Given the description of an element on the screen output the (x, y) to click on. 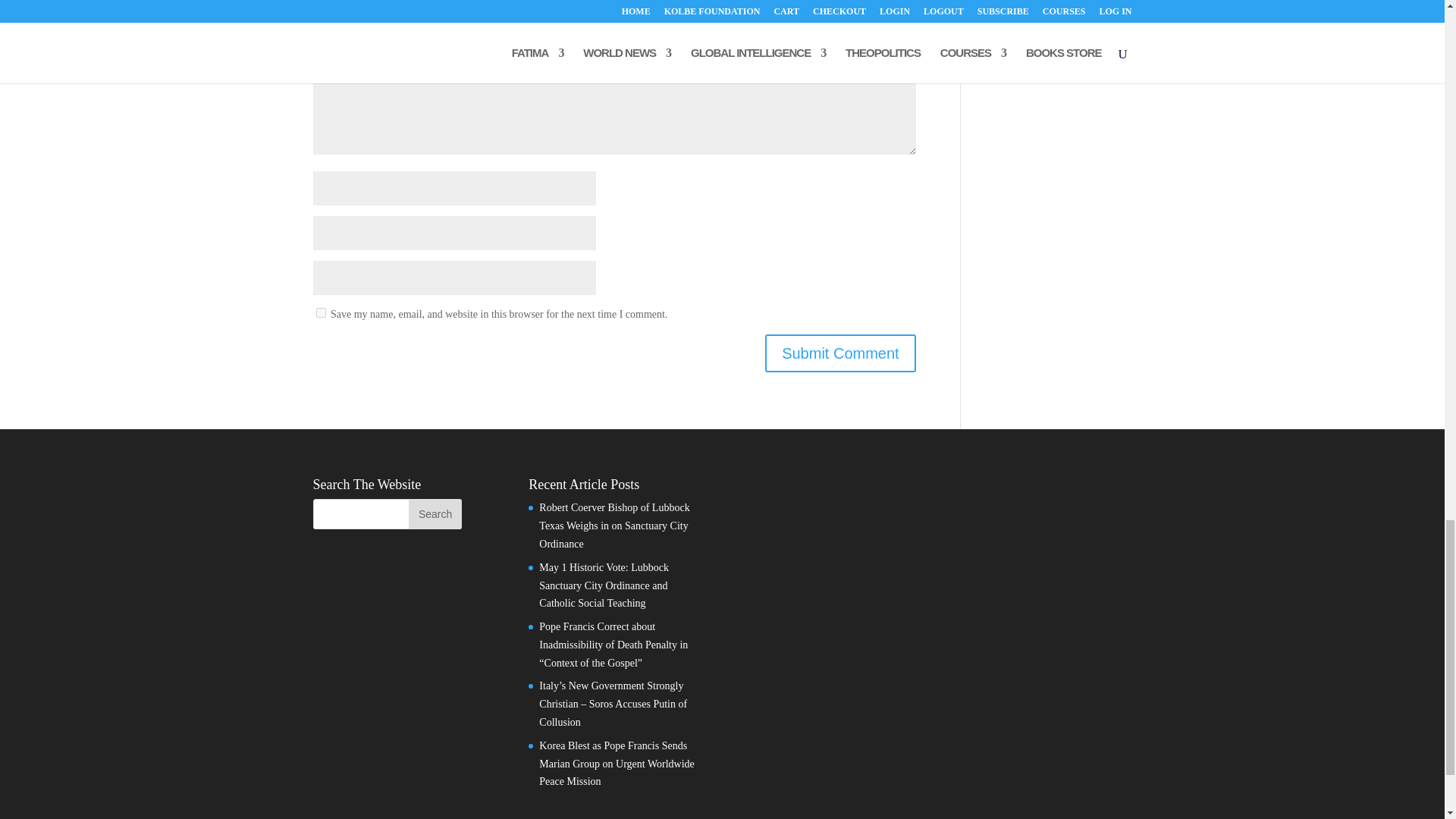
yes (319, 312)
Search (435, 513)
Submit Comment (840, 353)
